Given the description of an element on the screen output the (x, y) to click on. 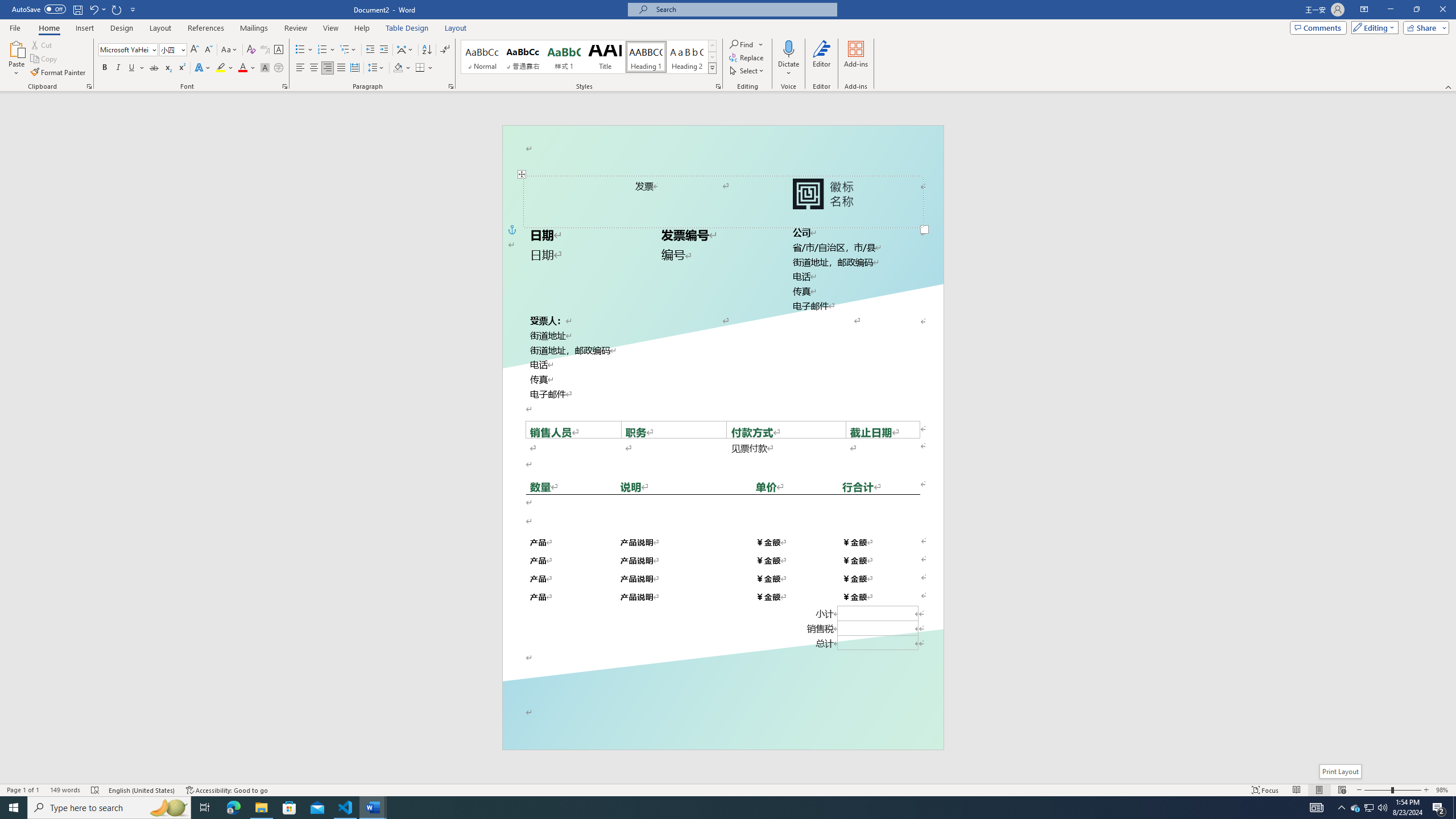
Language English (United States) (141, 790)
Decrease Indent (370, 49)
Styles (711, 67)
Editor (821, 58)
Cut (42, 44)
Center (313, 67)
